Given the description of an element on the screen output the (x, y) to click on. 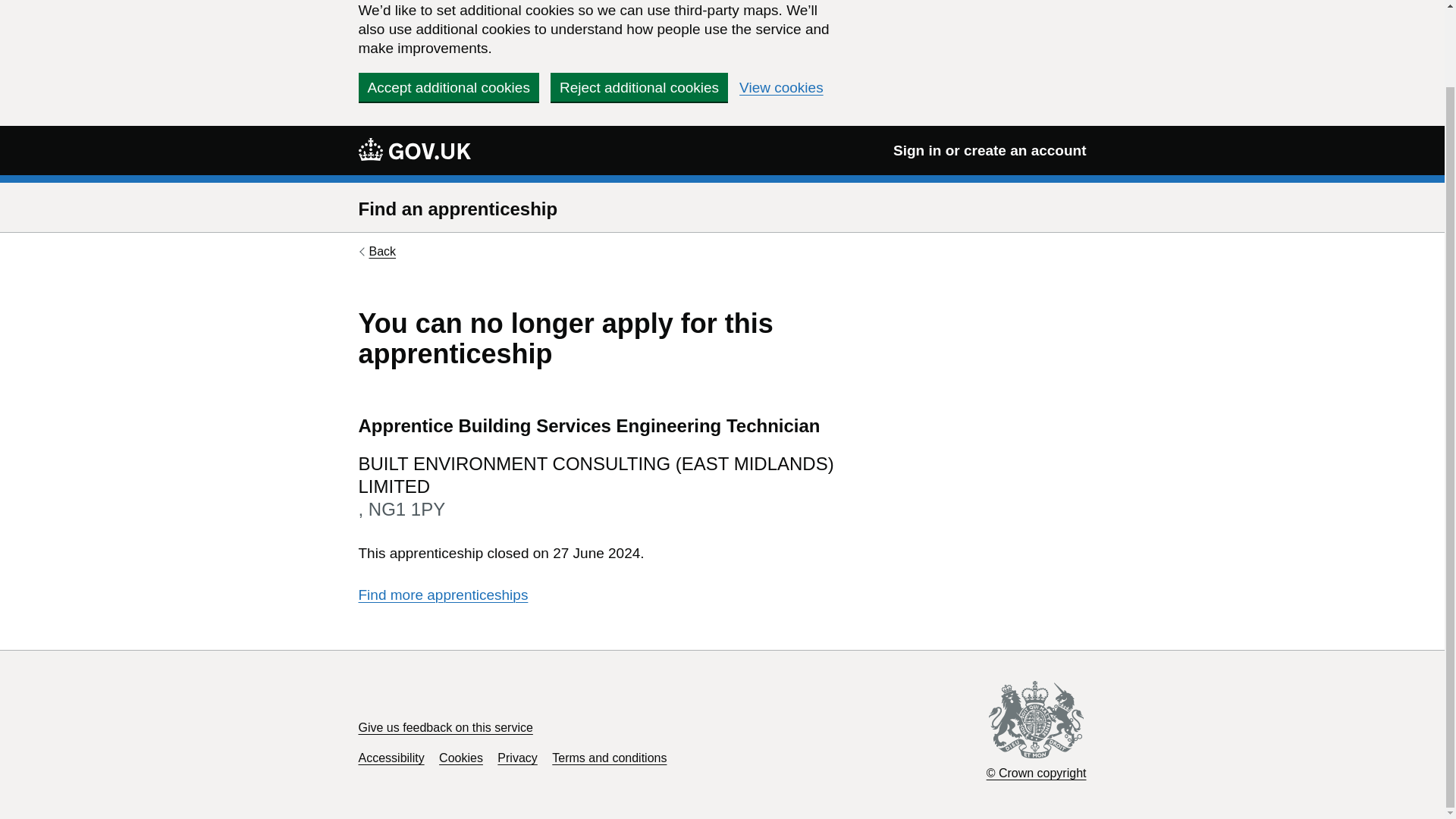
GOV.UK (414, 149)
Reject additional cookies (639, 86)
Find more apprenticeships (442, 594)
View cookies (781, 87)
Accessibility (390, 757)
GOV.UK (414, 149)
Terms and conditions (608, 757)
Privacy (517, 757)
Back (377, 251)
Cookies (461, 757)
Give us feedback on this service (445, 727)
Accept additional cookies (448, 86)
Sign in or create an account (989, 150)
